Given the description of an element on the screen output the (x, y) to click on. 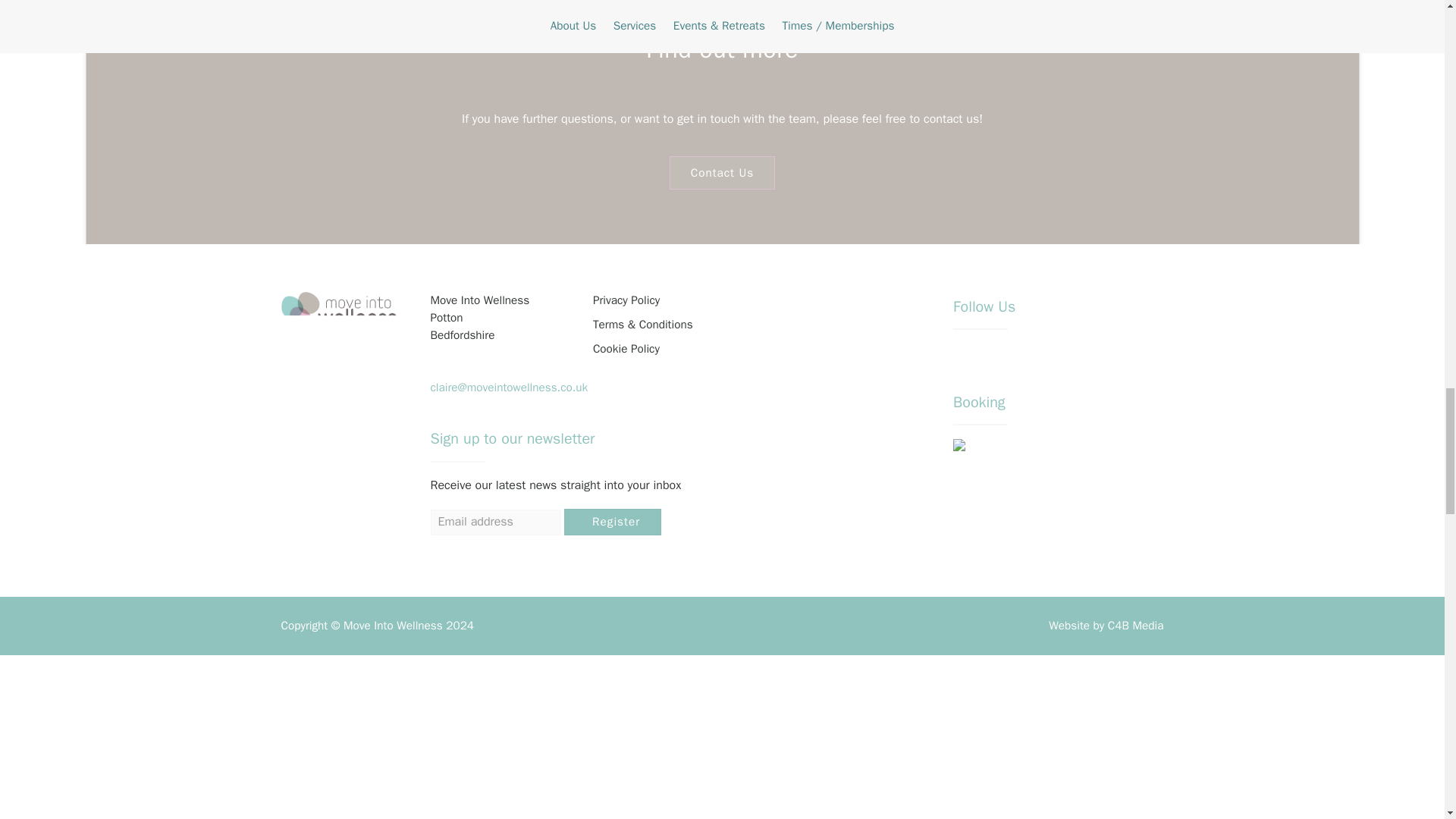
Privacy Policy (625, 300)
Register (612, 521)
Contact Us (722, 172)
Cookie Policy (625, 348)
C4B Media (1135, 625)
